Given the description of an element on the screen output the (x, y) to click on. 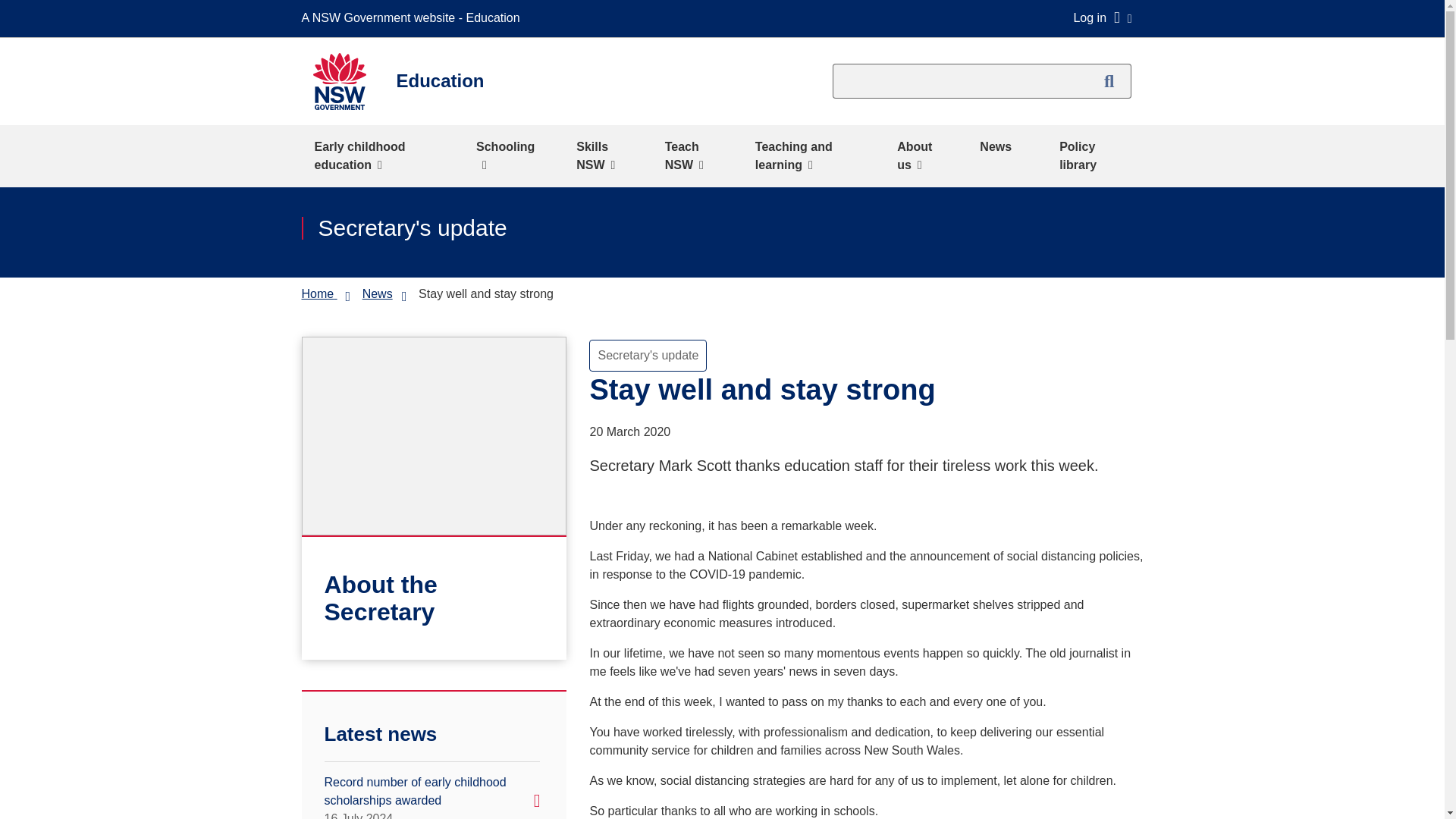
Go to NSW Department of Education homepage (318, 293)
A NSW Government website - Education (414, 18)
Log in (1101, 17)
NSW Logo (339, 81)
